Given the description of an element on the screen output the (x, y) to click on. 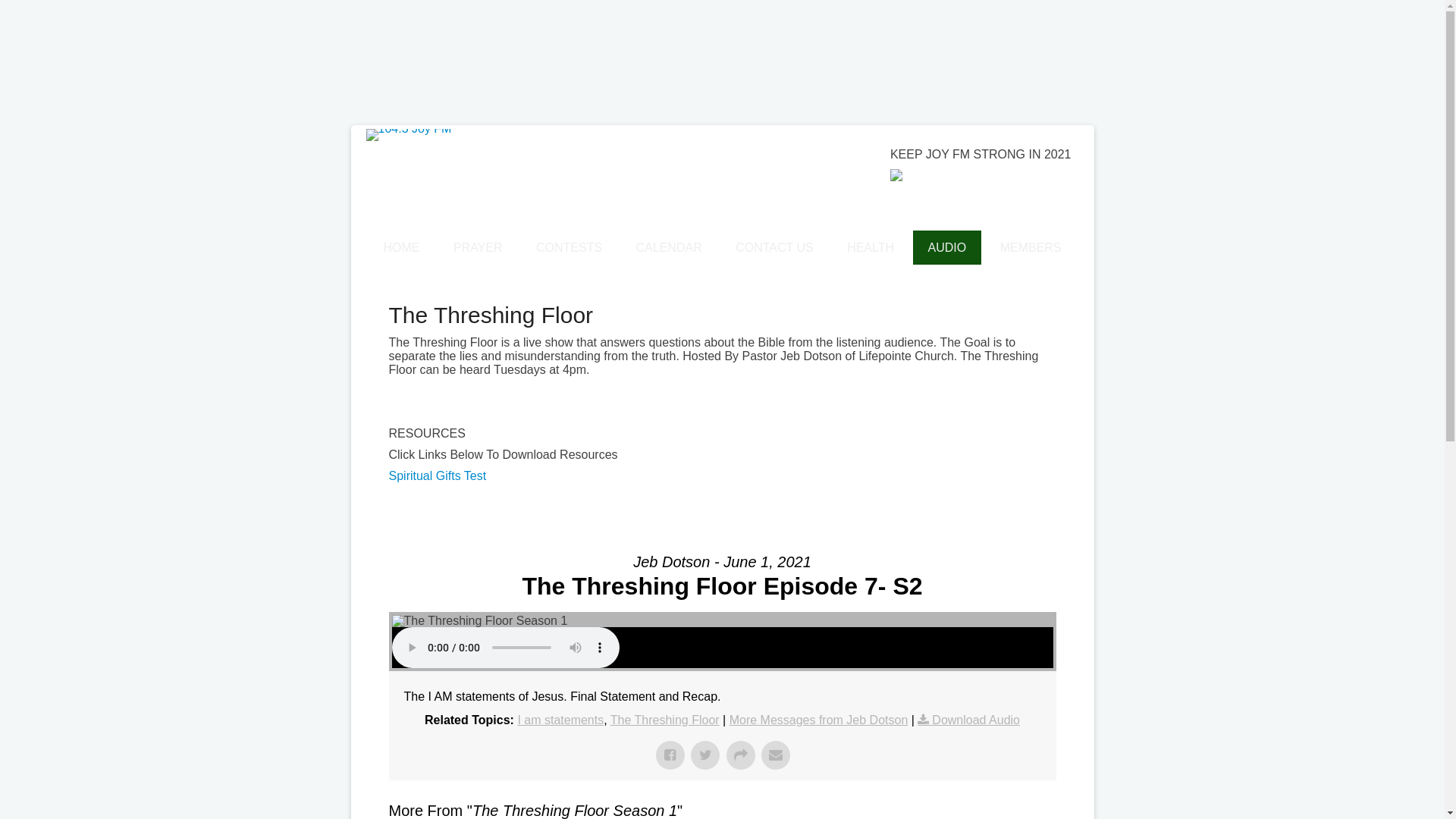
HEALTH Element type: text (870, 247)
HOME Element type: text (400, 247)
Spiritual Gifts Test Element type: text (437, 475)
Download Audio Element type: text (968, 719)
PRAYER Element type: text (477, 247)
MEMBERS Element type: text (1030, 247)
I am statements Element type: text (560, 719)
The Threshing Floor Element type: text (664, 719)
AUDIO Element type: text (947, 247)
Skip to content Element type: text (350, 125)
104.3 Joy FM Element type: text (483, 249)
Primary Menu Element type: text (350, 230)
CONTACT US Element type: text (774, 247)
CONTESTS Element type: text (568, 247)
CALENDAR Element type: text (669, 247)
More Messages from Jeb Dotson Element type: text (818, 719)
